Given the description of an element on the screen output the (x, y) to click on. 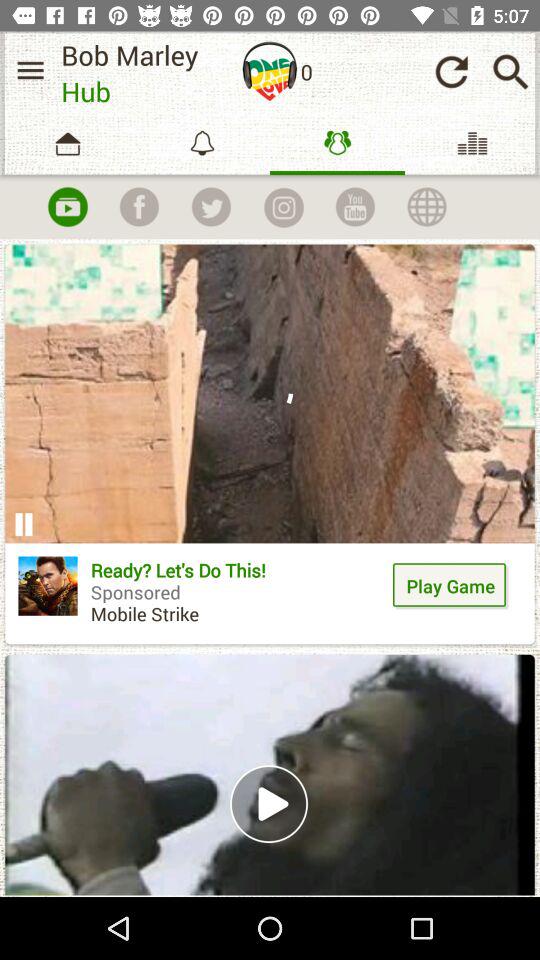
main menu (30, 69)
